Given the description of an element on the screen output the (x, y) to click on. 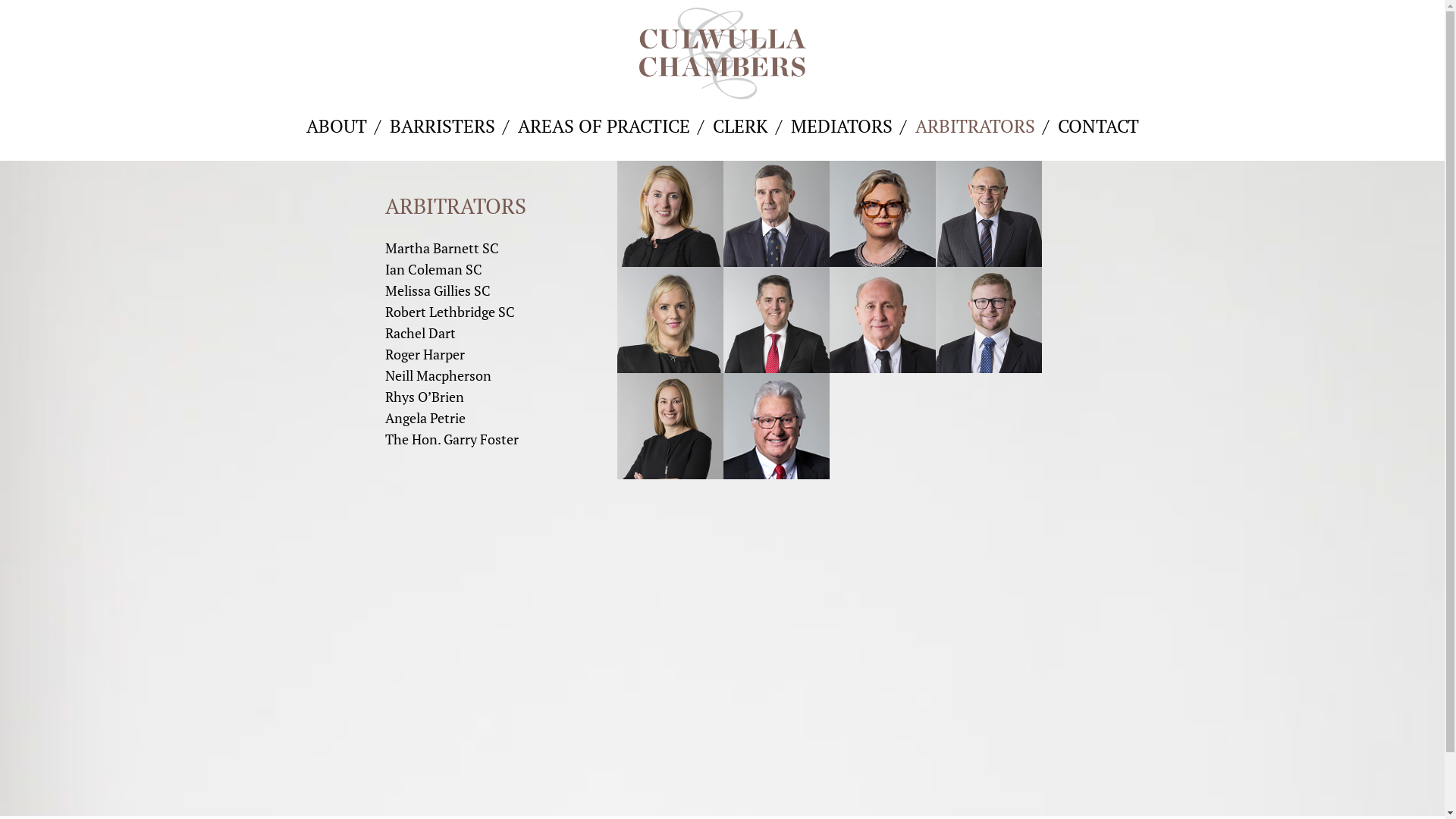
BARRISTERS Element type: text (441, 125)
Robert Lethbridge SC Element type: text (449, 311)
Neill Macpherson Element type: text (438, 375)
AREAS OF PRACTICE Element type: text (603, 125)
ABOUT Element type: text (335, 125)
Rachel Dart Element type: text (420, 332)
Martha Barnett SC Element type: text (441, 247)
Melissa Gillies SC Element type: text (437, 290)
Angela Petrie Element type: text (425, 417)
Ian Coleman SC Element type: text (433, 269)
CLERK Element type: text (739, 125)
MEDIATORS Element type: text (841, 125)
Roger Harper Element type: text (424, 354)
CONTACT Element type: text (1098, 125)
The Hon. Garry Foster Element type: text (451, 438)
ARBITRATORS Element type: text (974, 125)
